Given the description of an element on the screen output the (x, y) to click on. 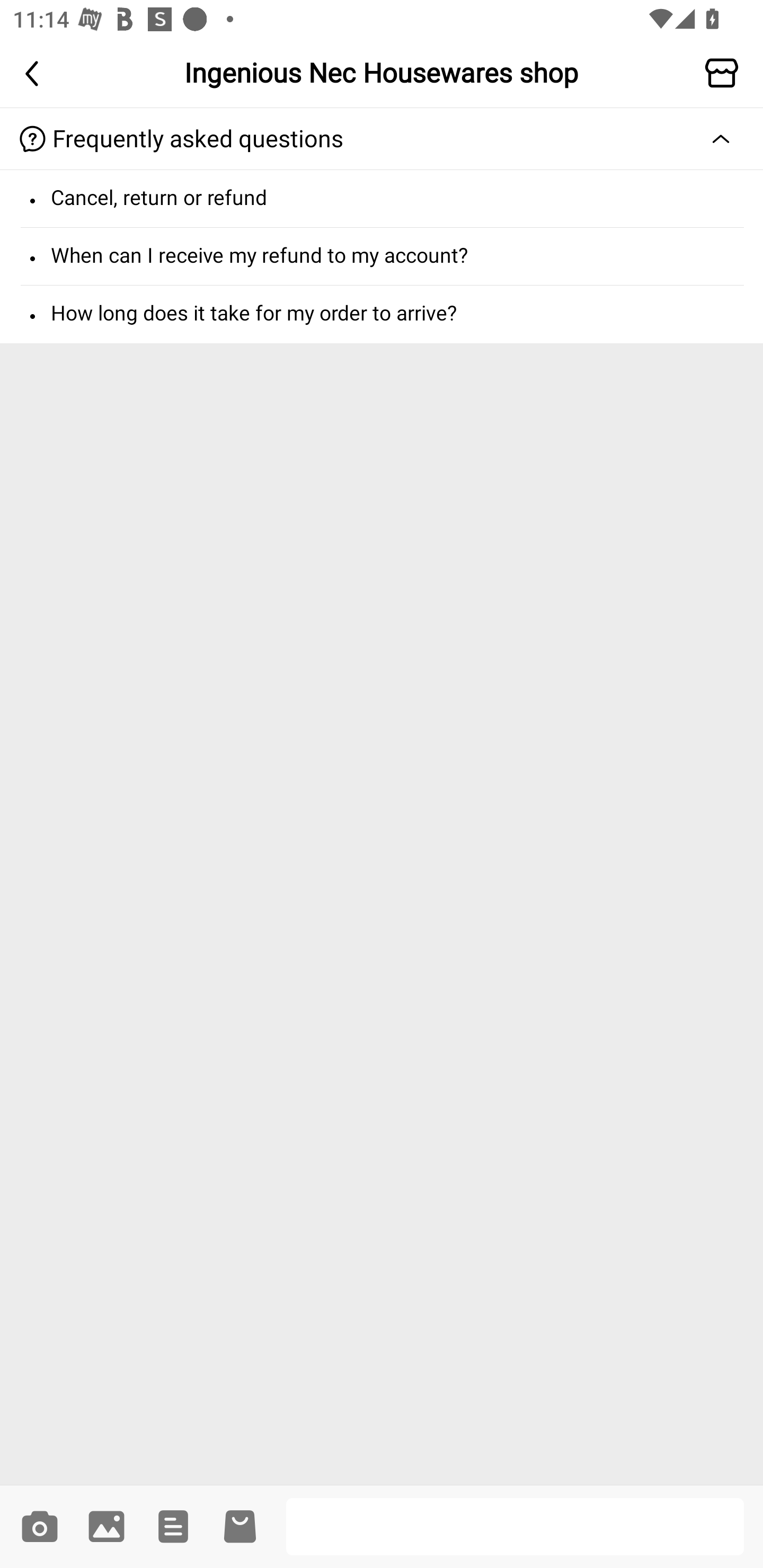
 back (36, 72)
 enter the merchant store (726, 72)
Pull down button  Frequently asked questions (381, 138)
Cancel, return or refund (381, 198)
When can I receive my refund to my account? (381, 256)
How long does it take for my order to arrive? (381, 314)
 Camera (39, 1526)
 Photo (106, 1526)
 Order (172, 1526)
 Item (239, 1526)
